Given the description of an element on the screen output the (x, y) to click on. 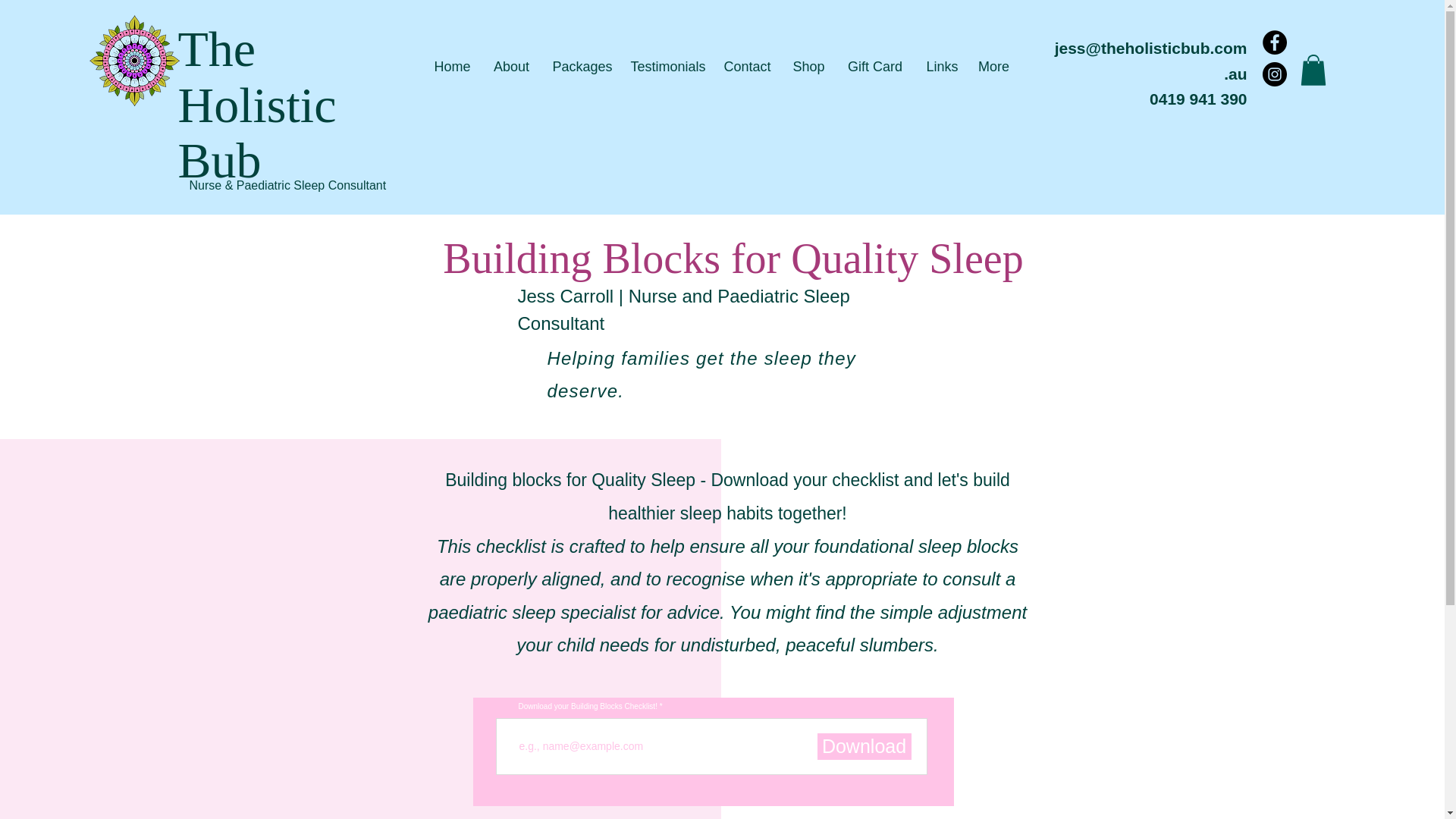
Packages (580, 66)
Links (940, 66)
Contact (747, 66)
Download (863, 746)
Home (452, 66)
About (511, 66)
Gift Card (875, 66)
Shop (807, 66)
Testimonials (664, 66)
The Holistic Bub (256, 104)
